Given the description of an element on the screen output the (x, y) to click on. 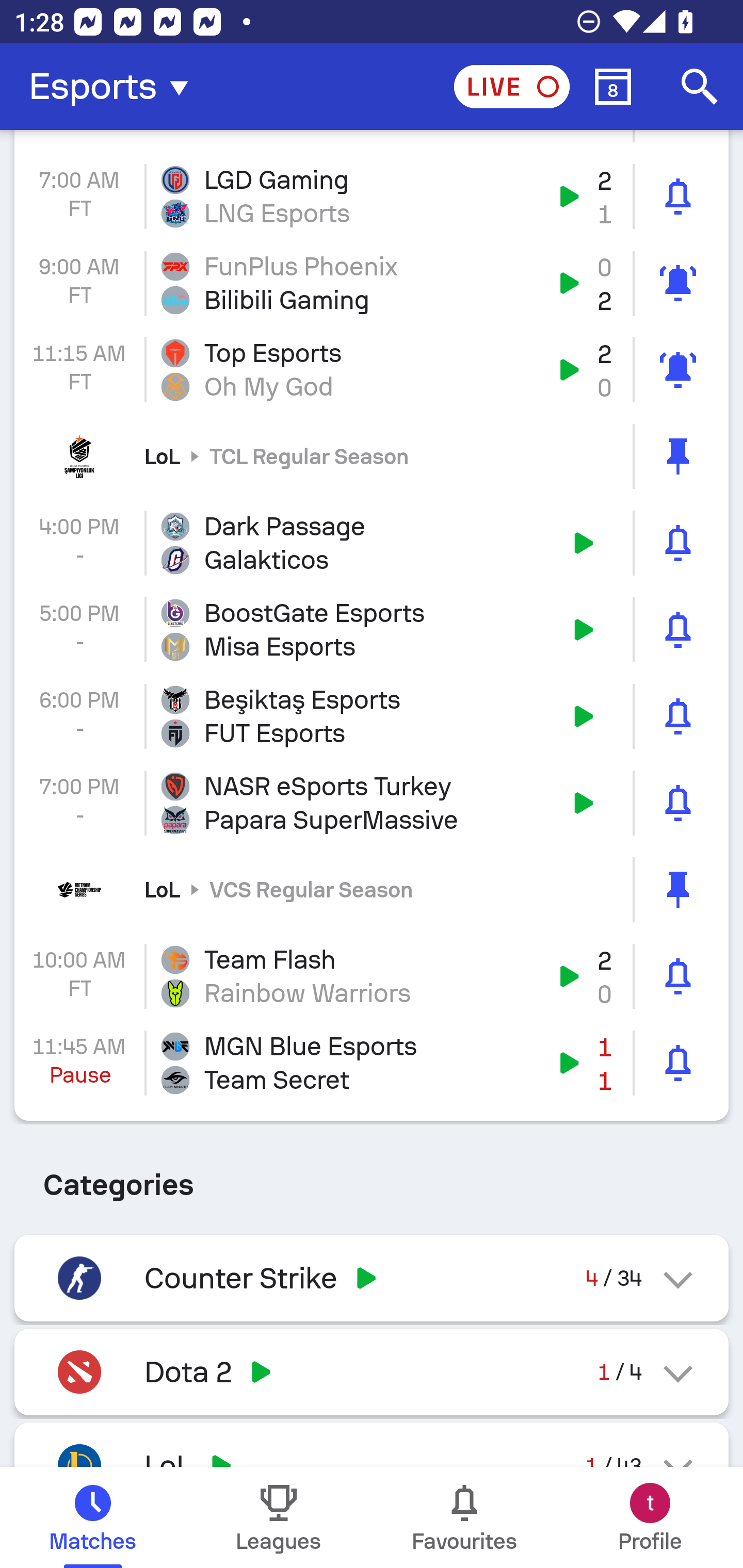
Esports (114, 86)
Calendar (612, 86)
Search (699, 86)
7:00 AM FT LGD Gaming LNG Esports 2 1 (371, 196)
9:00 AM FT FunPlus Phoenix Bilibili Gaming 0 2 (371, 282)
11:15 AM FT Top Esports Oh My God 2 0 (371, 369)
LoL TCL Regular Season (371, 456)
4:00 PM - Dark Passage Galakticos (371, 543)
5:00 PM - BoostGate Esports Misa Esports (371, 629)
6:00 PM - Beşiktaş Esports FUT Esports (371, 716)
7:00 PM - NASR eSports Turkey Papara SuperMassive (371, 803)
LoL VCS Regular Season (371, 889)
10:00 AM FT Team Flash Rainbow Warriors 2 0 (371, 975)
11:45 AM Pause MGN Blue Esports Team Secret 1 1 (371, 1063)
Categories (371, 1177)
Counter Strike 4 / 34 (371, 1278)
Dota 2 1 / 4 (371, 1371)
Leagues (278, 1517)
Favourites (464, 1517)
Profile (650, 1517)
